Given the description of an element on the screen output the (x, y) to click on. 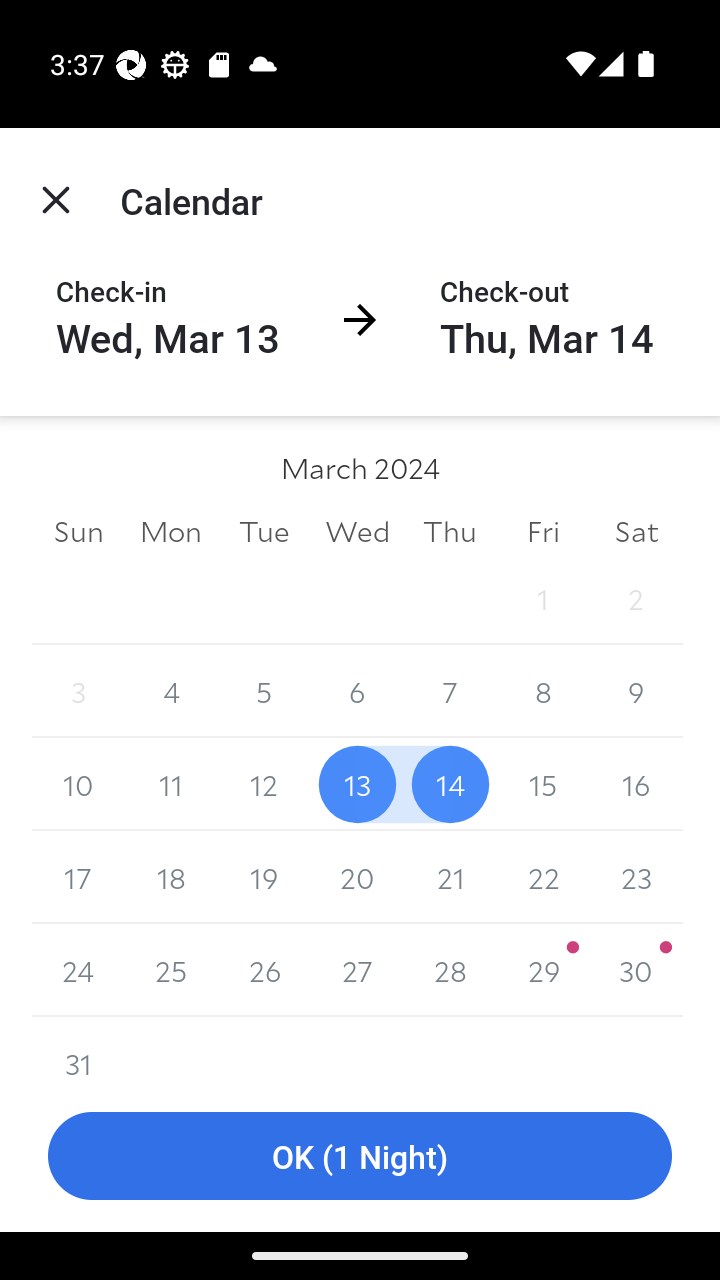
Sun (78, 530)
Mon (171, 530)
Tue (264, 530)
Wed (357, 530)
Thu (449, 530)
Fri (542, 530)
Sat (636, 530)
1 1 March 2024 (542, 598)
2 2 March 2024 (636, 598)
3 3 March 2024 (78, 691)
4 4 March 2024 (171, 691)
5 5 March 2024 (264, 691)
6 6 March 2024 (357, 691)
7 7 March 2024 (449, 691)
8 8 March 2024 (542, 691)
9 9 March 2024 (636, 691)
10 10 March 2024 (78, 784)
11 11 March 2024 (171, 784)
12 12 March 2024 (264, 784)
13 13 March 2024 (357, 784)
14 14 March 2024 (449, 784)
15 15 March 2024 (542, 784)
16 16 March 2024 (636, 784)
17 17 March 2024 (78, 877)
18 18 March 2024 (171, 877)
19 19 March 2024 (264, 877)
20 20 March 2024 (357, 877)
21 21 March 2024 (449, 877)
22 22 March 2024 (542, 877)
23 23 March 2024 (636, 877)
24 24 March 2024 (78, 970)
25 25 March 2024 (171, 970)
26 26 March 2024 (264, 970)
27 27 March 2024 (357, 970)
28 28 March 2024 (449, 970)
29 29 March 2024 (542, 970)
30 30 March 2024 (636, 970)
31 31 March 2024 (78, 1048)
OK (1 Night) (359, 1156)
